Given the description of an element on the screen output the (x, y) to click on. 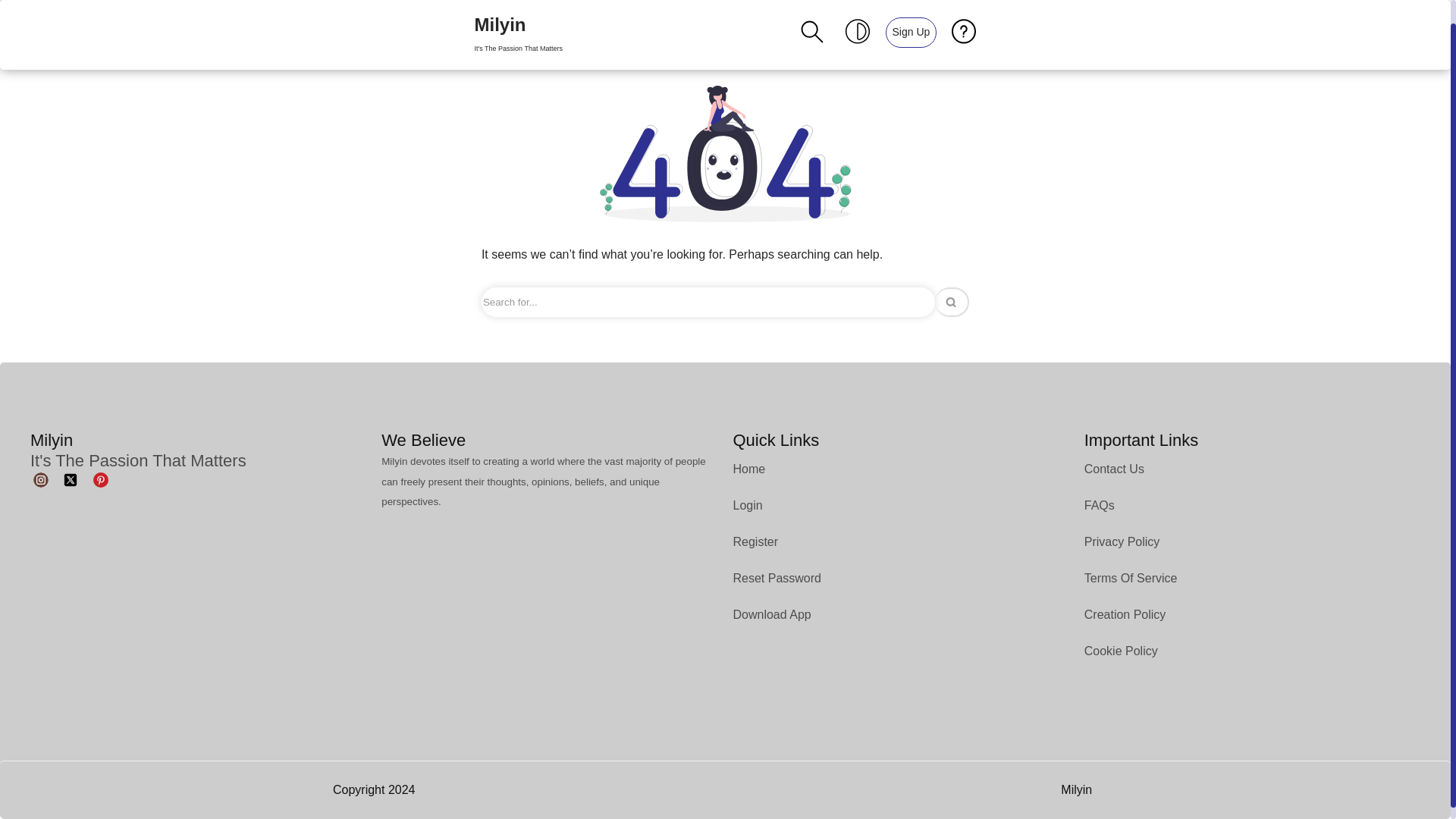
Sign Up (911, 19)
Milyin (518, 22)
Sign Up (910, 19)
Skip to content (518, 22)
